Given the description of an element on the screen output the (x, y) to click on. 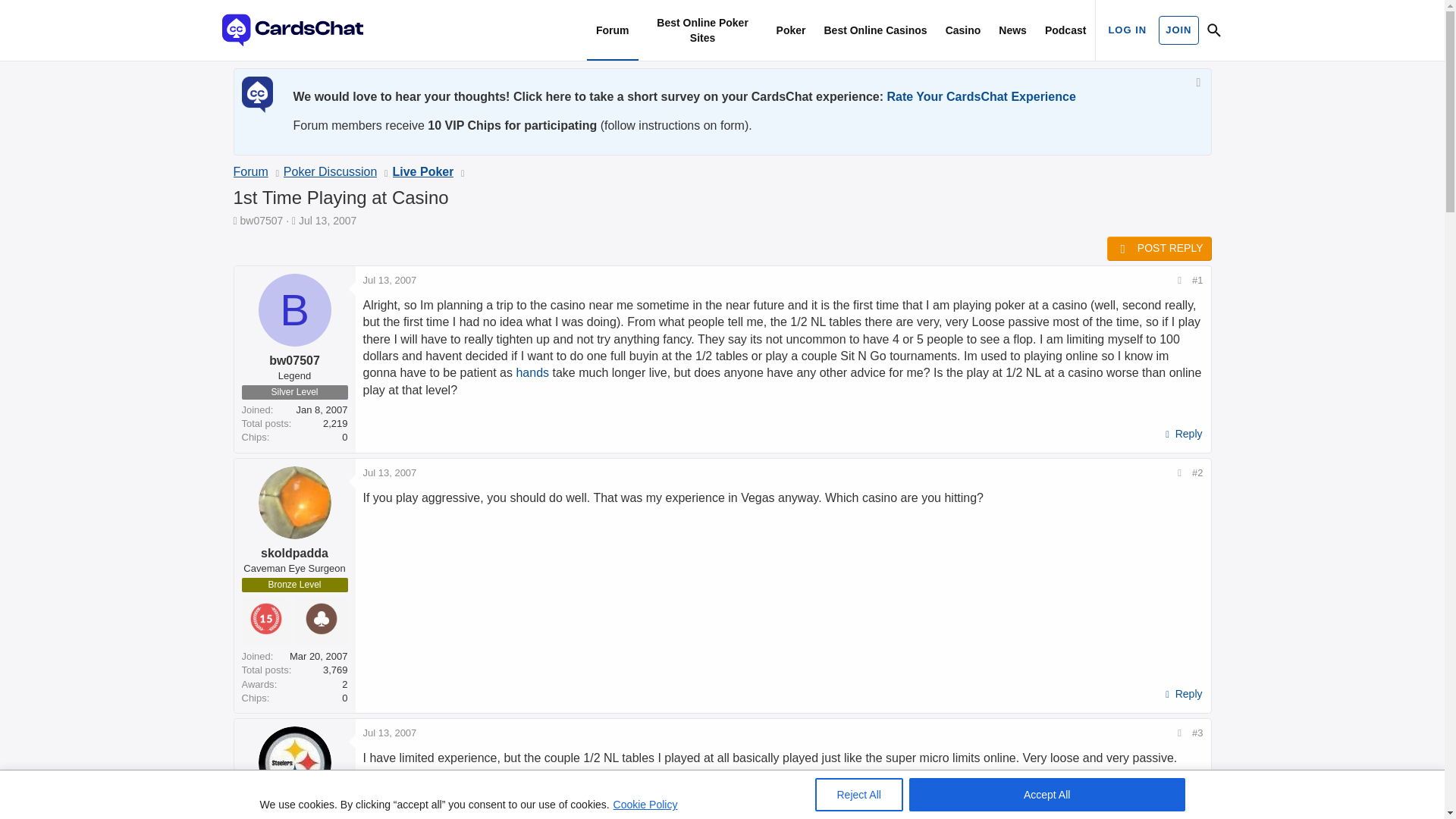
Jul 13, 2007 at 11:41 PM (389, 279)
Jul 13, 2007 at 11:56 PM (389, 732)
Accept All (1046, 794)
Cookie Policy (645, 804)
Chips (255, 698)
Best Online Poker Sites (703, 30)
Reject All (857, 794)
Reply, quoting this message (1181, 694)
Reply, quoting this message (1181, 434)
Jul 13, 2007 at 11:56 PM (389, 472)
Chips (255, 437)
Jul 13, 2007 at 11:41 PM (327, 220)
